Given the description of an element on the screen output the (x, y) to click on. 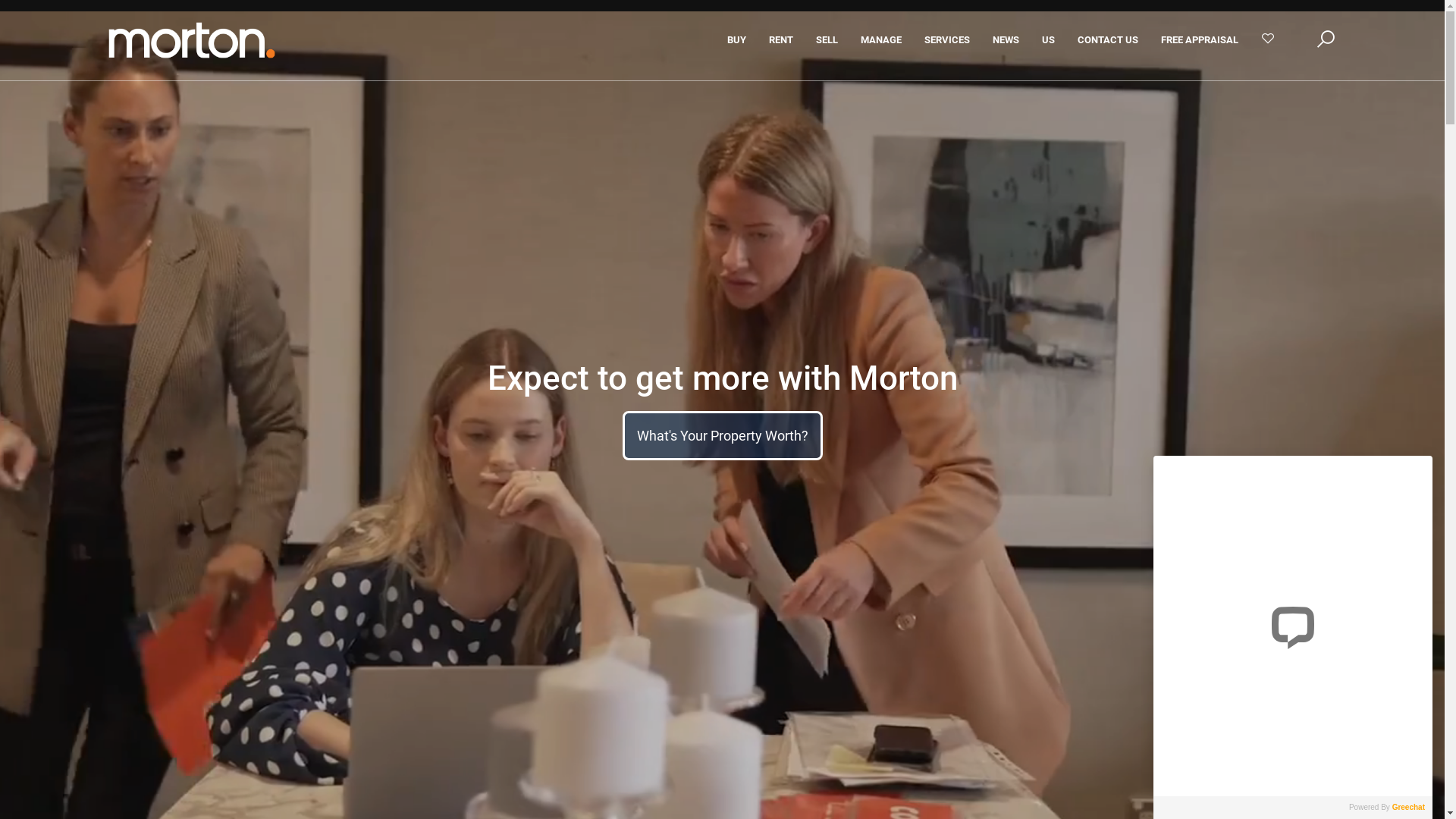
MANAGE Element type: text (880, 40)
Search Element type: text (953, 133)
FREE APPRAISAL Element type: text (1199, 40)
SERVICES Element type: text (946, 40)
BUY Element type: text (736, 40)
NEWS Element type: text (1005, 40)
US Element type: text (1048, 40)
LiveChat chat widget Element type: hover (1292, 619)
What's Your Property Worth? Element type: text (722, 435)
SELL Element type: text (826, 40)
CONTACT US Element type: text (1107, 40)
Greechat Element type: text (1409, 807)
RENT Element type: text (781, 40)
